Given the description of an element on the screen output the (x, y) to click on. 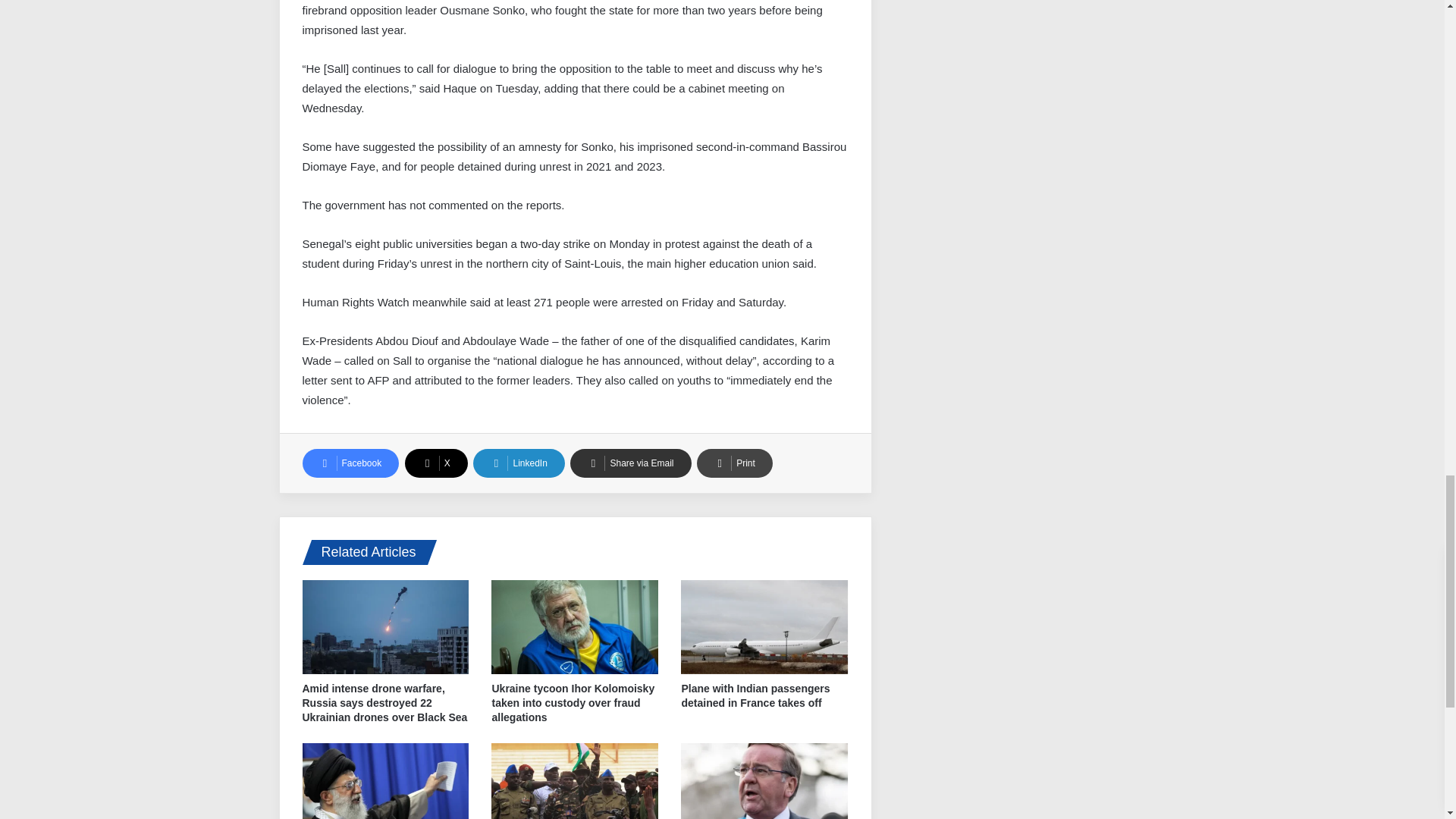
Share via Email (630, 462)
LinkedIn (518, 462)
Share via Email (630, 462)
LinkedIn (518, 462)
Facebook (349, 462)
Plane with Indian passengers detained in France takes off (755, 695)
X (435, 462)
X (435, 462)
Facebook (349, 462)
Print (735, 462)
Print (735, 462)
